Given the description of an element on the screen output the (x, y) to click on. 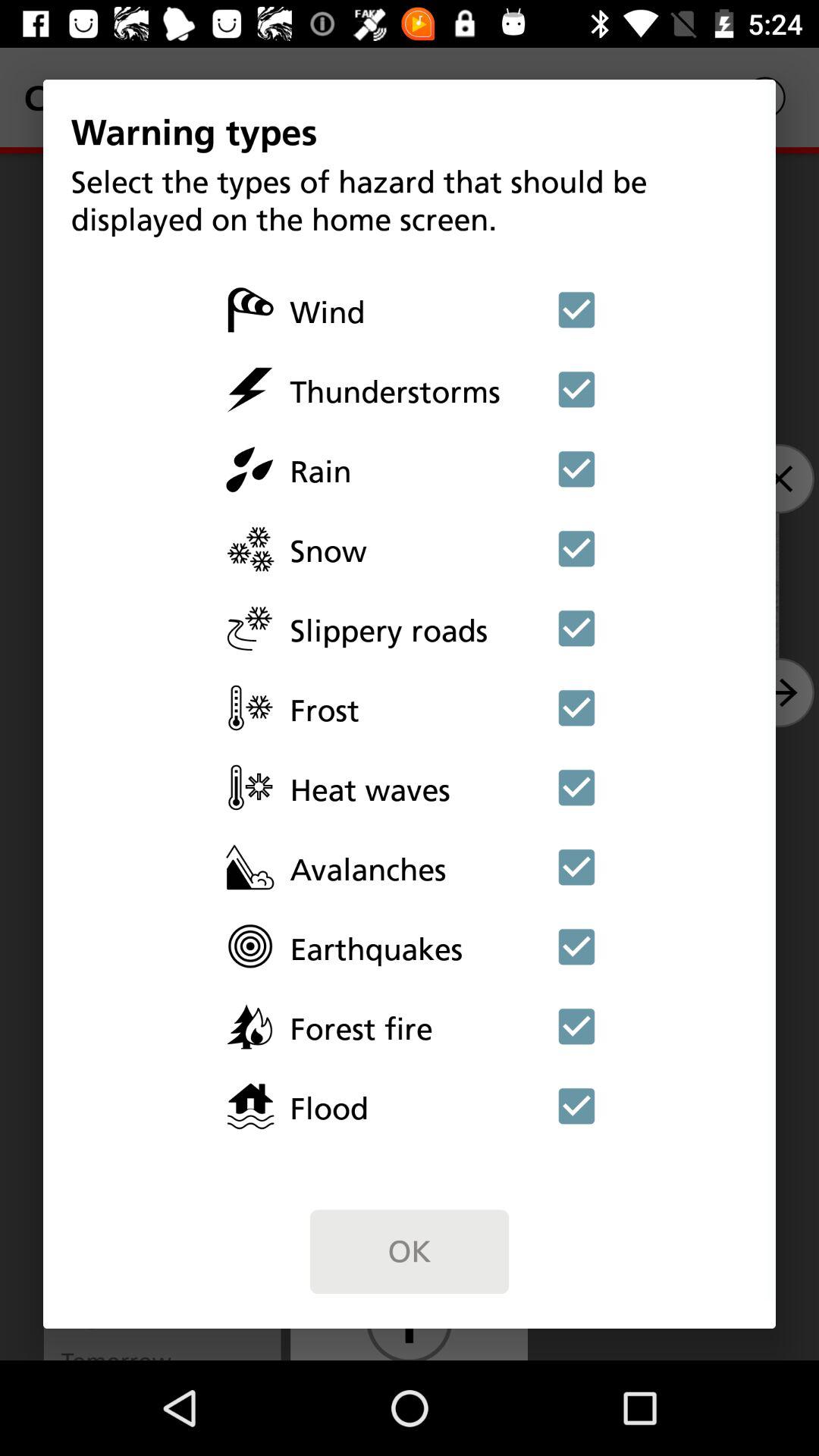
toggle warning type (576, 707)
